Given the description of an element on the screen output the (x, y) to click on. 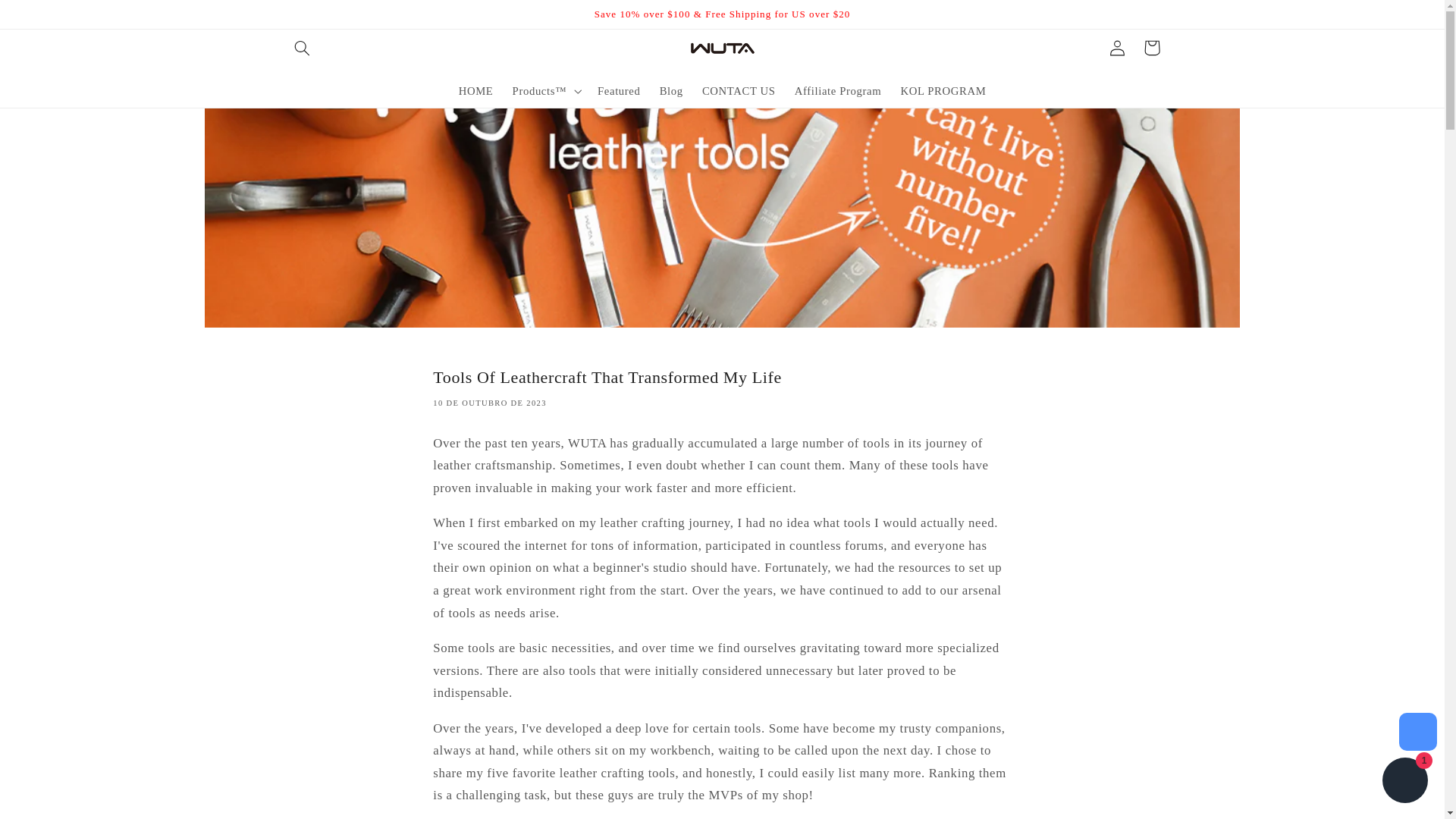
Conversa da loja online da Shopify (1404, 781)
